Given the description of an element on the screen output the (x, y) to click on. 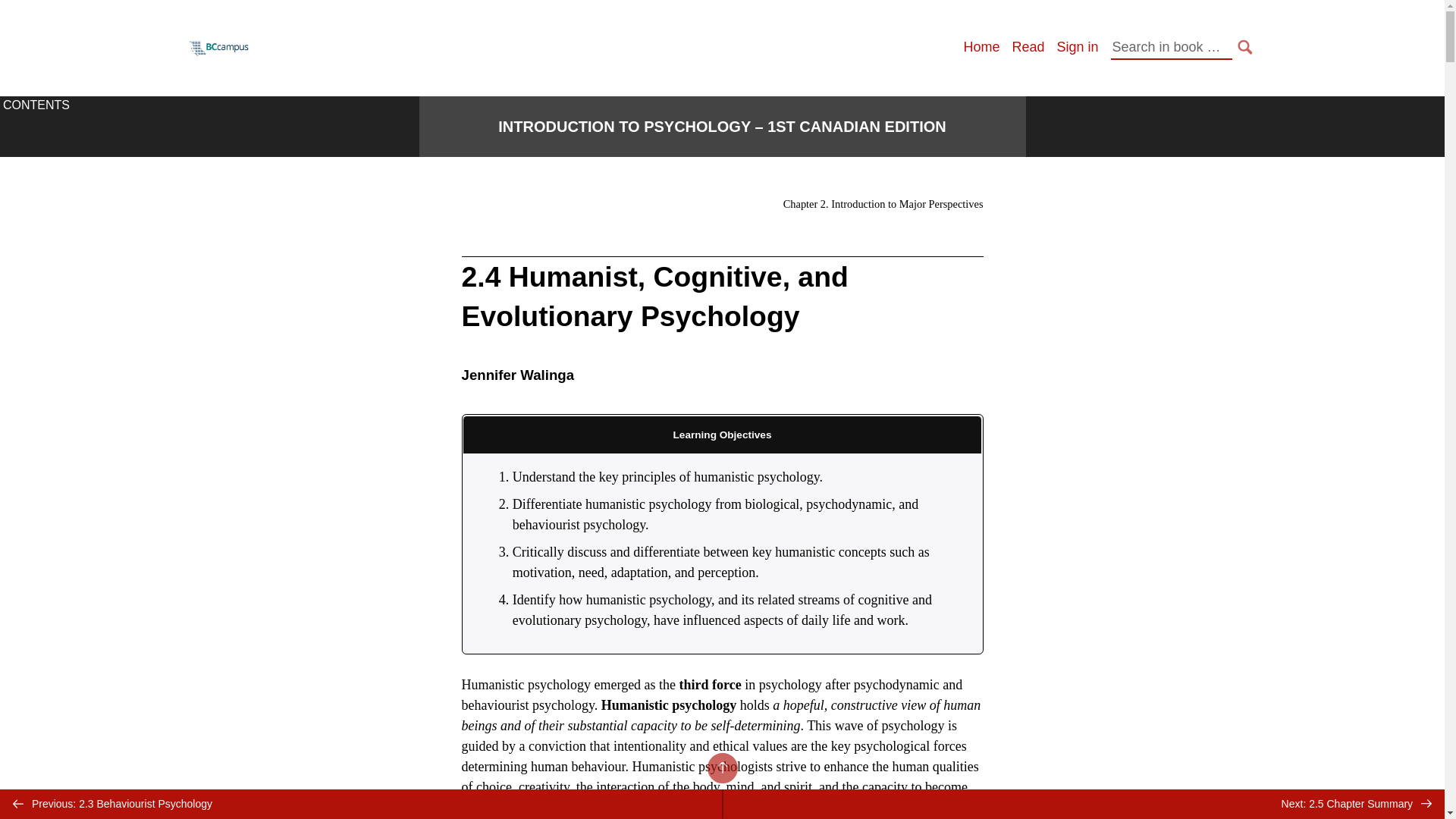
Previous: 2.3 Behaviourist Psychology (361, 804)
Sign in (1077, 46)
BACK TO TOP (721, 767)
Read (1027, 46)
Home (980, 46)
Previous: 2.3 Behaviourist Psychology (361, 804)
